Given the description of an element on the screen output the (x, y) to click on. 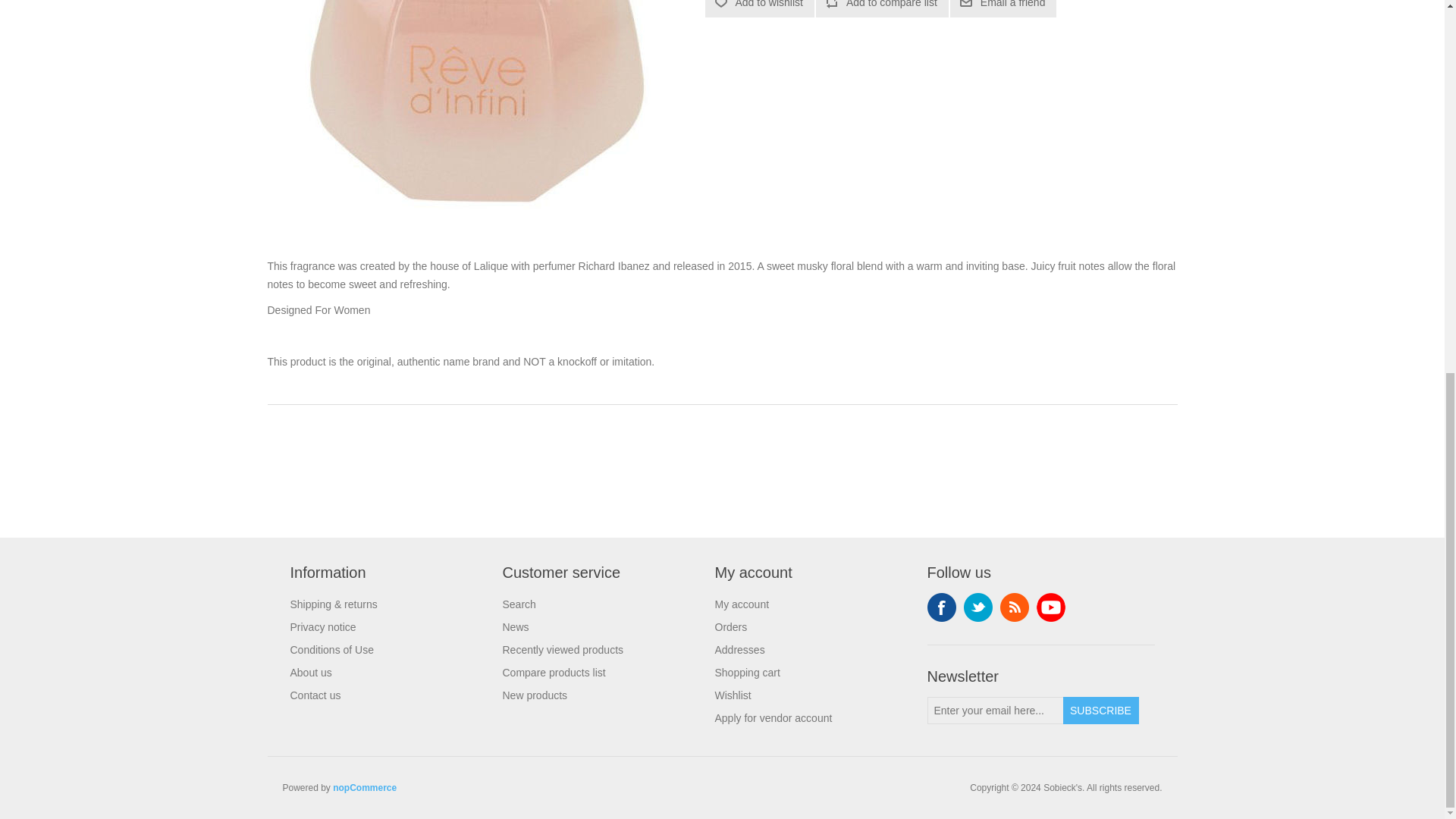
Email a friend (1003, 8)
Add to wishlist (758, 8)
Subscribe (1100, 709)
Add to compare list (882, 8)
